Given the description of an element on the screen output the (x, y) to click on. 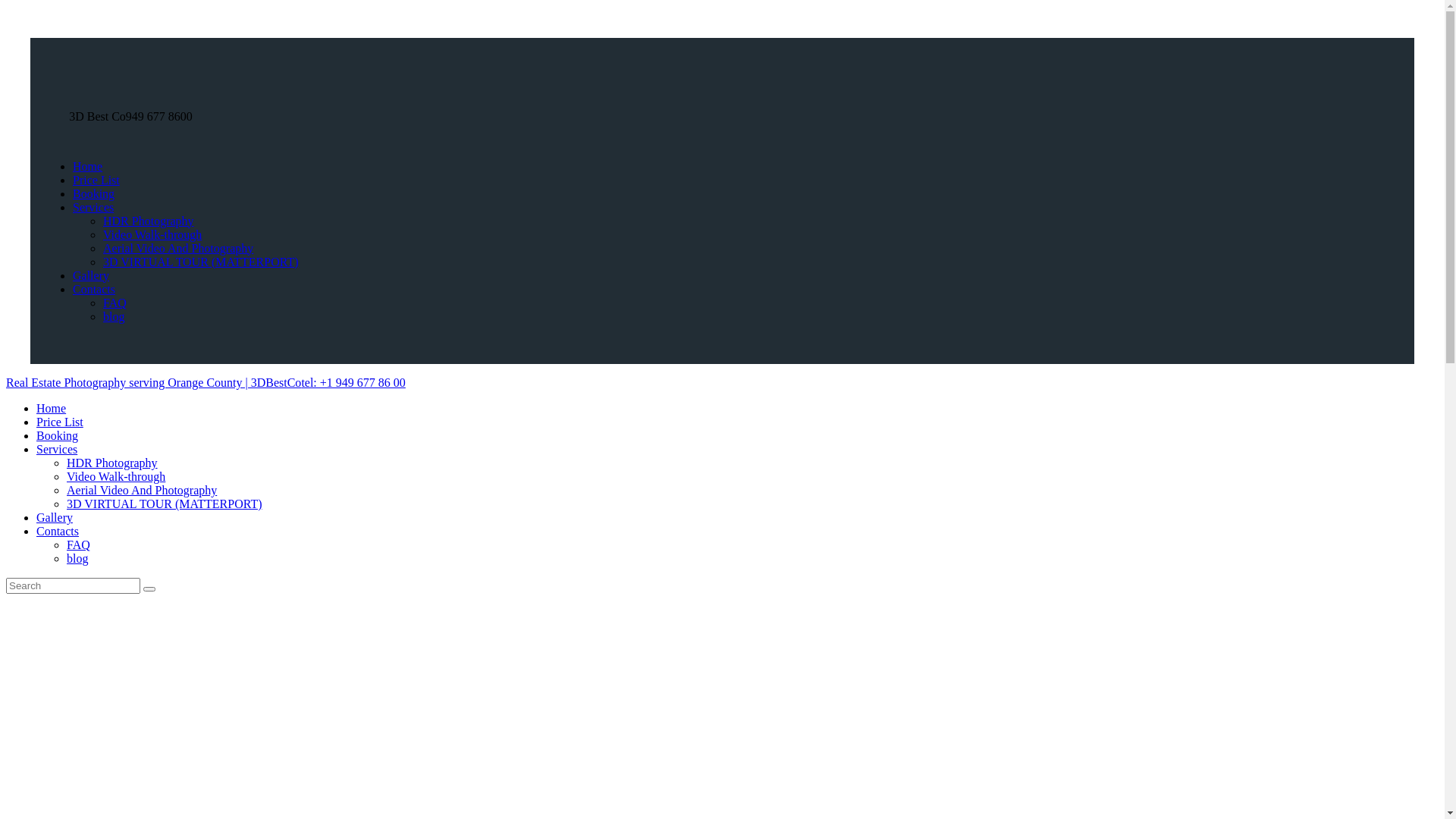
Gallery Element type: text (54, 517)
HDR Photography Element type: text (111, 462)
FAQ Element type: text (78, 544)
Home Element type: text (50, 407)
Contacts Element type: text (57, 530)
Aerial Video And Photography Element type: text (141, 489)
3D VIRTUAL TOUR (MATTERPORT) Element type: text (200, 261)
Video Walk-through Element type: text (152, 234)
3D VIRTUAL TOUR (MATTERPORT) Element type: text (164, 503)
FAQ Element type: text (114, 302)
Price List Element type: text (95, 179)
Booking Element type: text (93, 193)
Contacts Element type: text (93, 288)
blog Element type: text (76, 558)
blog Element type: text (113, 316)
Home Element type: text (87, 166)
Booking Element type: text (57, 435)
Aerial Video And Photography Element type: text (178, 247)
Services Element type: text (56, 448)
HDR Photography Element type: text (148, 220)
Services Element type: text (92, 206)
Video Walk-through Element type: text (115, 476)
Gallery Element type: text (90, 275)
Price List Element type: text (59, 421)
